Given the description of an element on the screen output the (x, y) to click on. 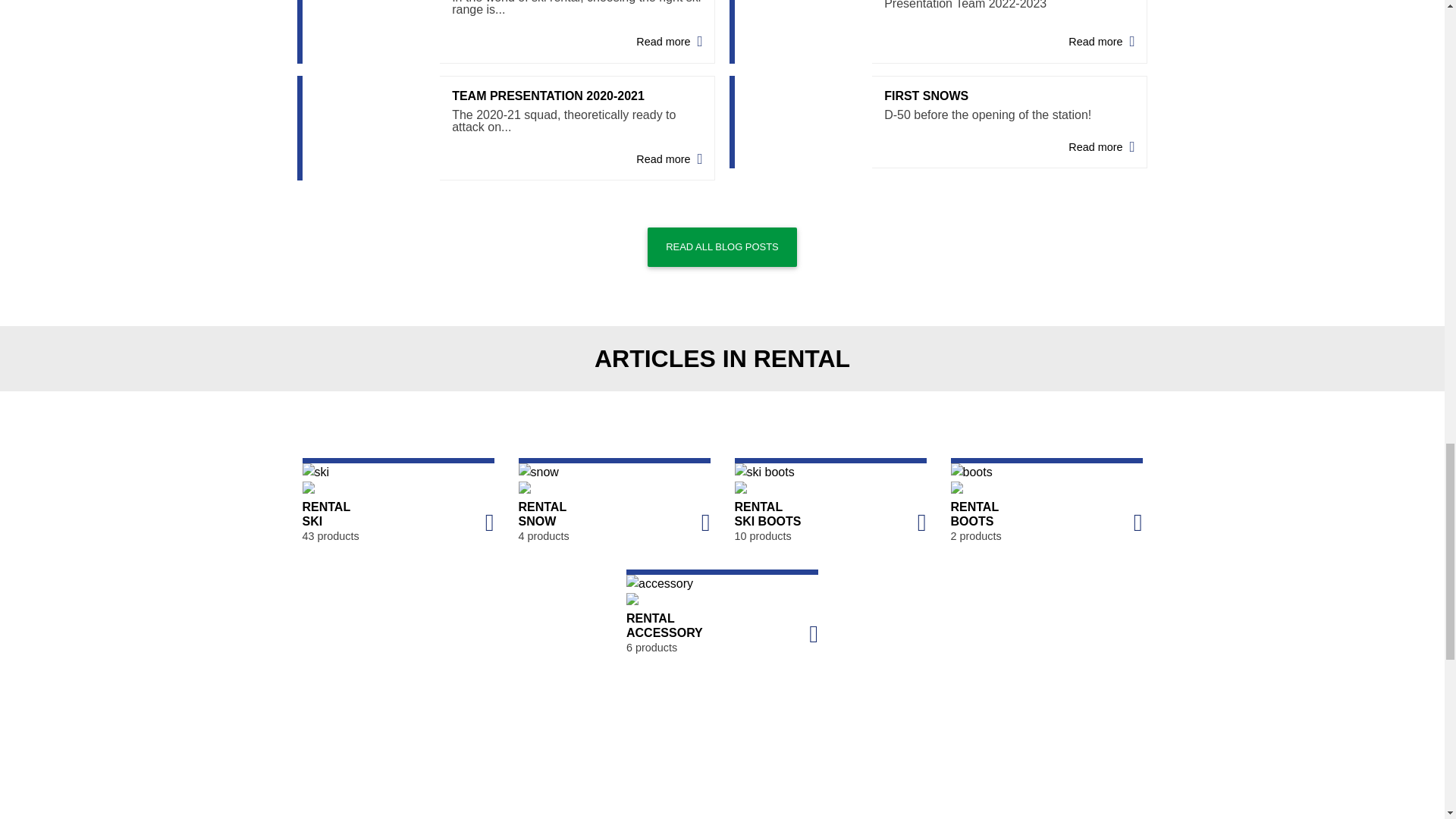
READ ALL BLOG POSTS (721, 246)
